Given the description of an element on the screen output the (x, y) to click on. 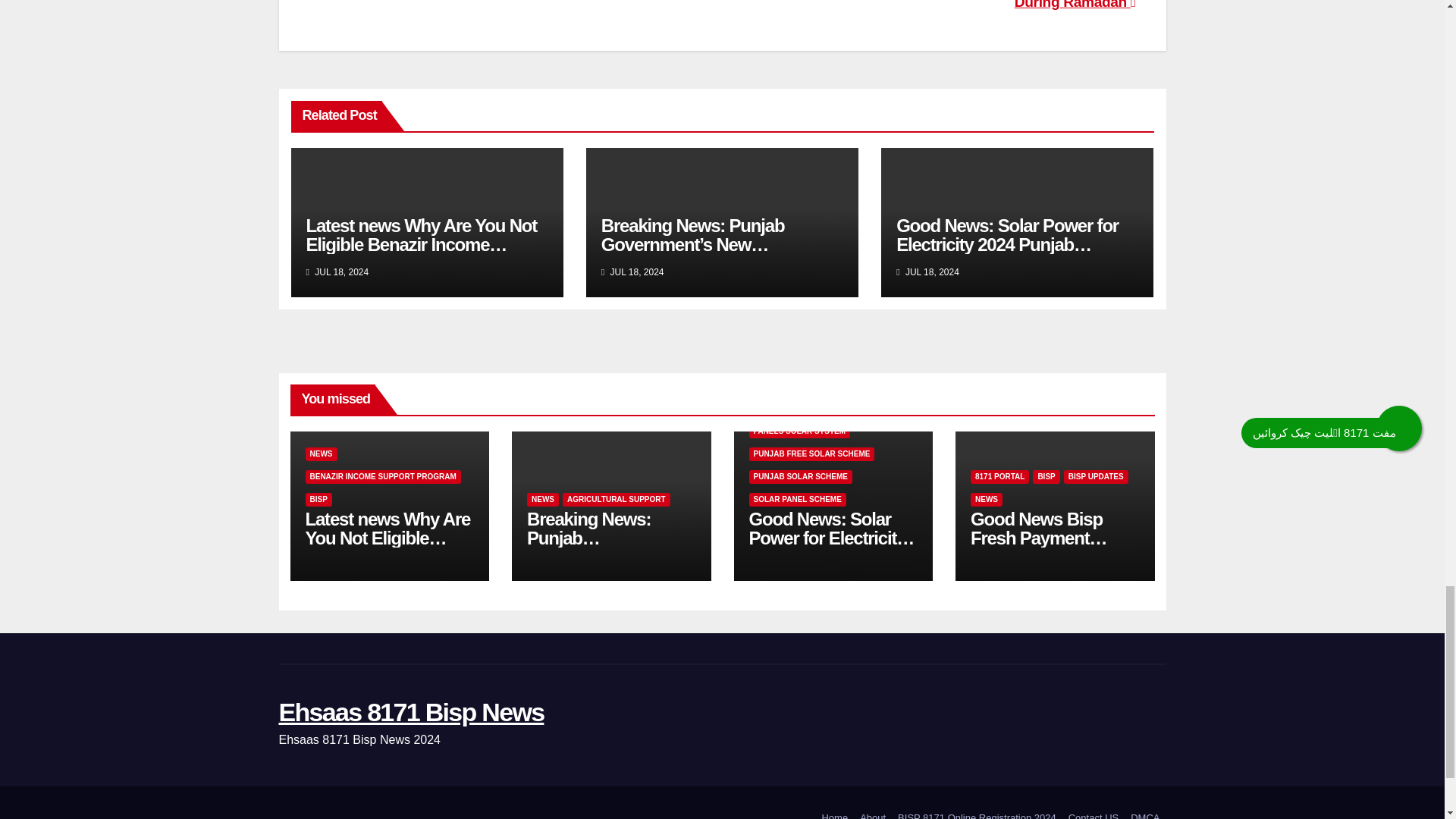
NEWS (320, 454)
